Given the description of an element on the screen output the (x, y) to click on. 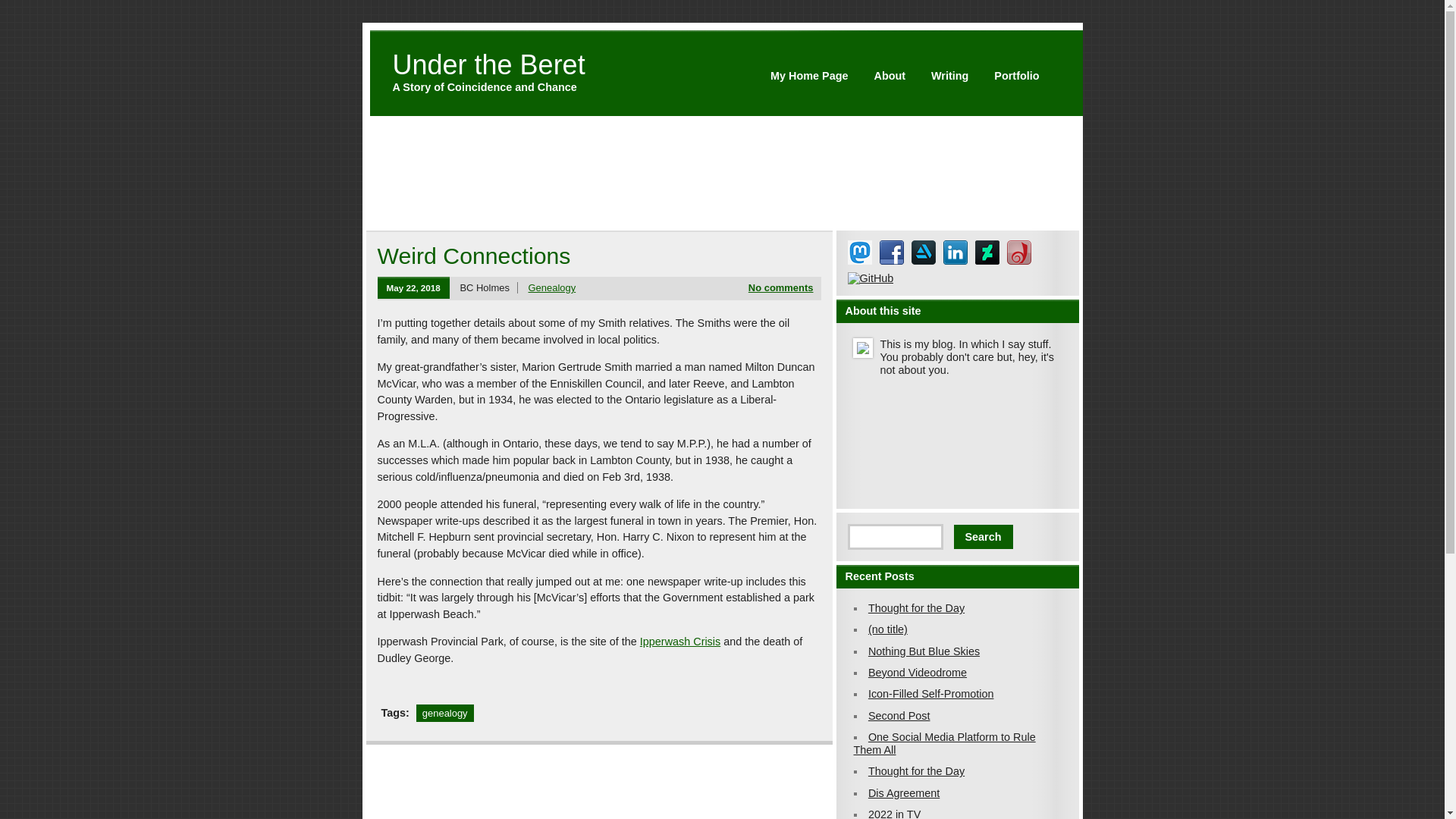
Portfolio (1016, 75)
My Home Page (808, 75)
genealogy (445, 712)
2022 in TV (893, 813)
About (889, 75)
Icon-Filled Self-Promotion (930, 693)
Ipperwash Crisis (680, 641)
Dis Agreement (903, 793)
Search (983, 536)
Under the Beret (489, 65)
